Given the description of an element on the screen output the (x, y) to click on. 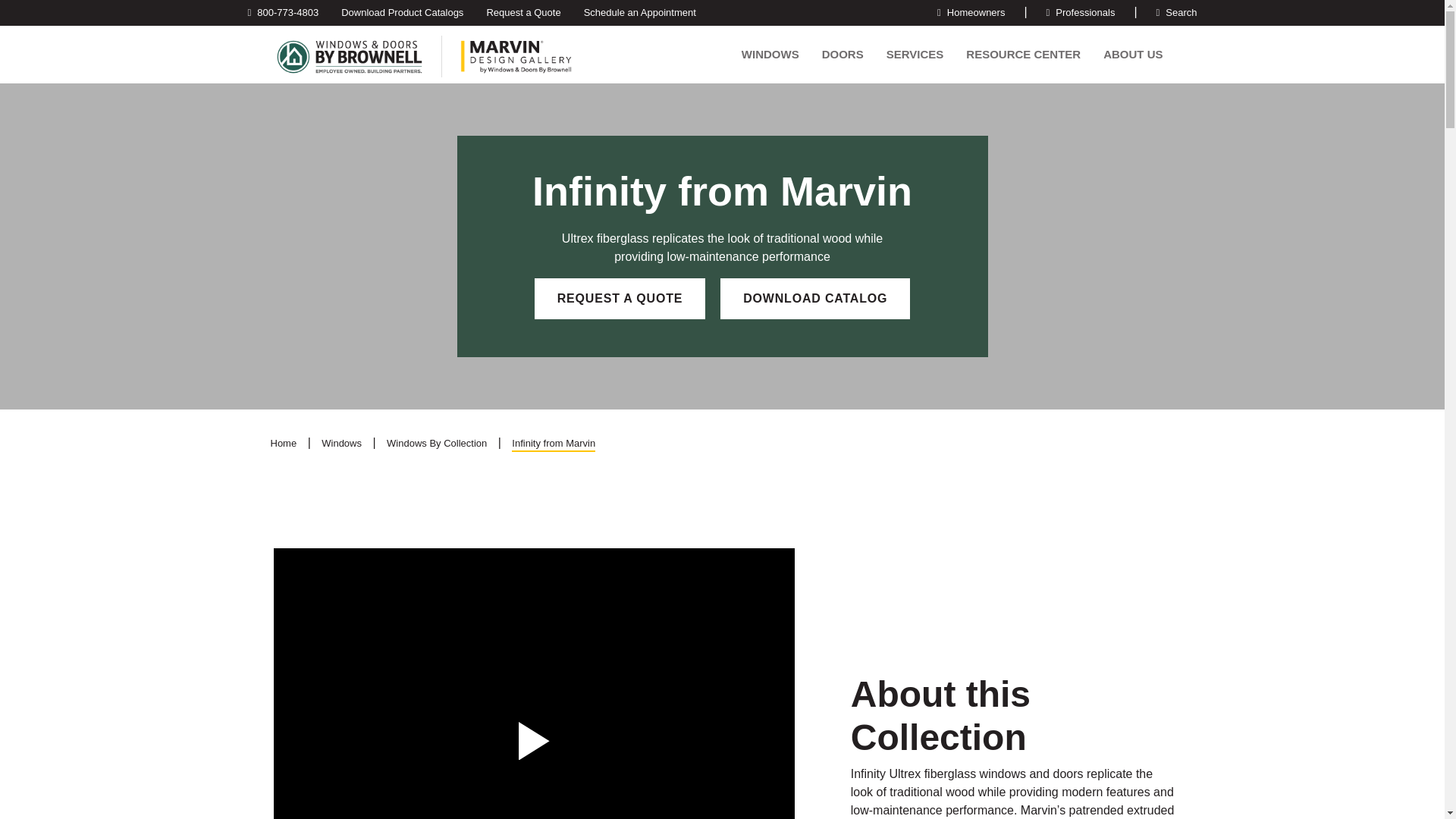
Search (1176, 12)
Windows (770, 62)
800-773-4803 (283, 12)
Request a Quote (523, 12)
Download Product Catalogs (401, 12)
WINDOWS (770, 62)
Professionals (1080, 12)
Schedule an Appointment (639, 12)
Homeowners (970, 12)
